Given the description of an element on the screen output the (x, y) to click on. 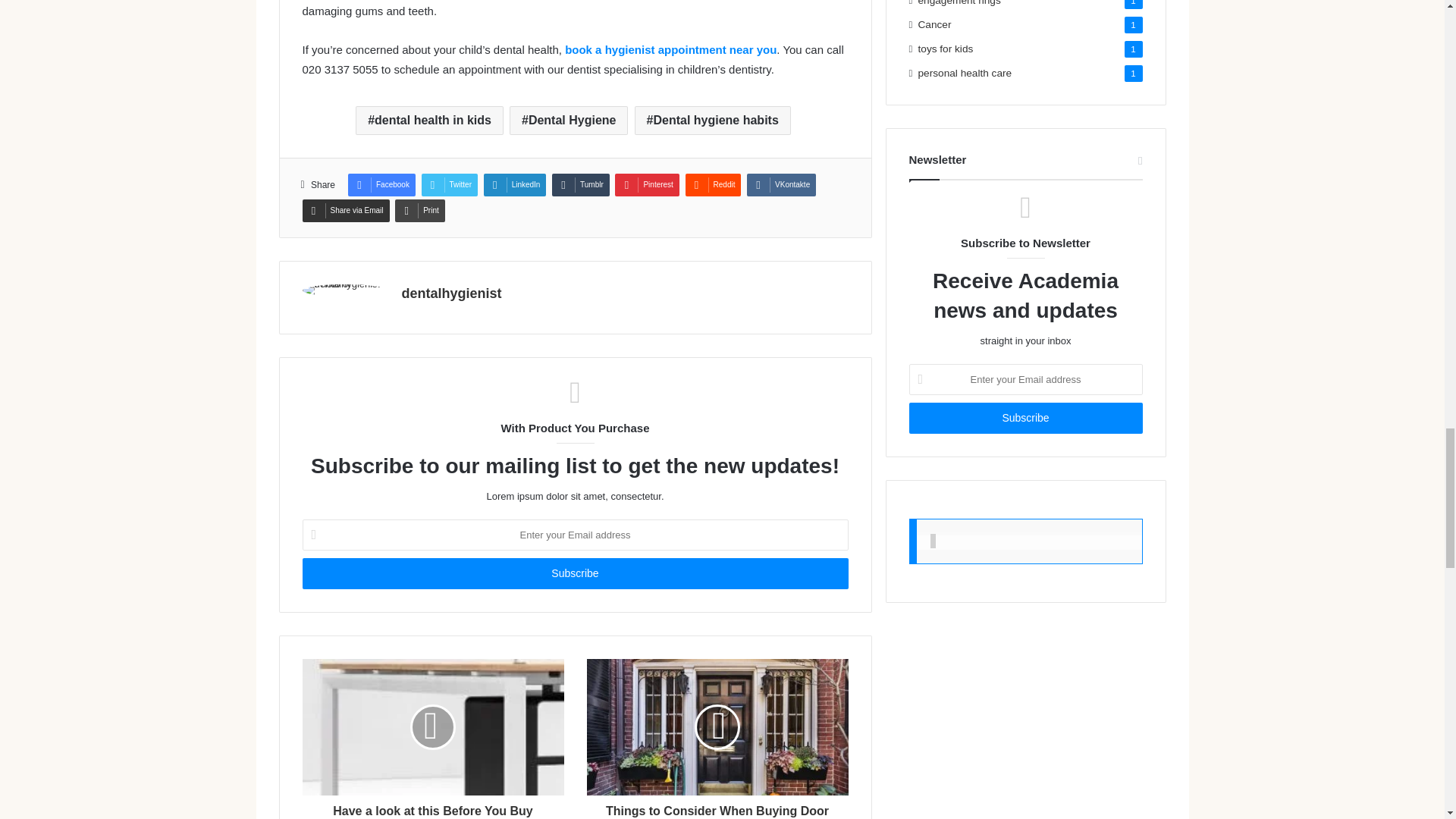
dental health in kids (429, 120)
Facebook (380, 184)
book a hygienist appointment near you (670, 49)
VKontakte (780, 184)
Pinterest (646, 184)
LinkedIn (515, 184)
Dental hygiene habits (712, 120)
Subscribe (1025, 418)
Twitter (449, 184)
Dental Hygiene (568, 120)
